Given the description of an element on the screen output the (x, y) to click on. 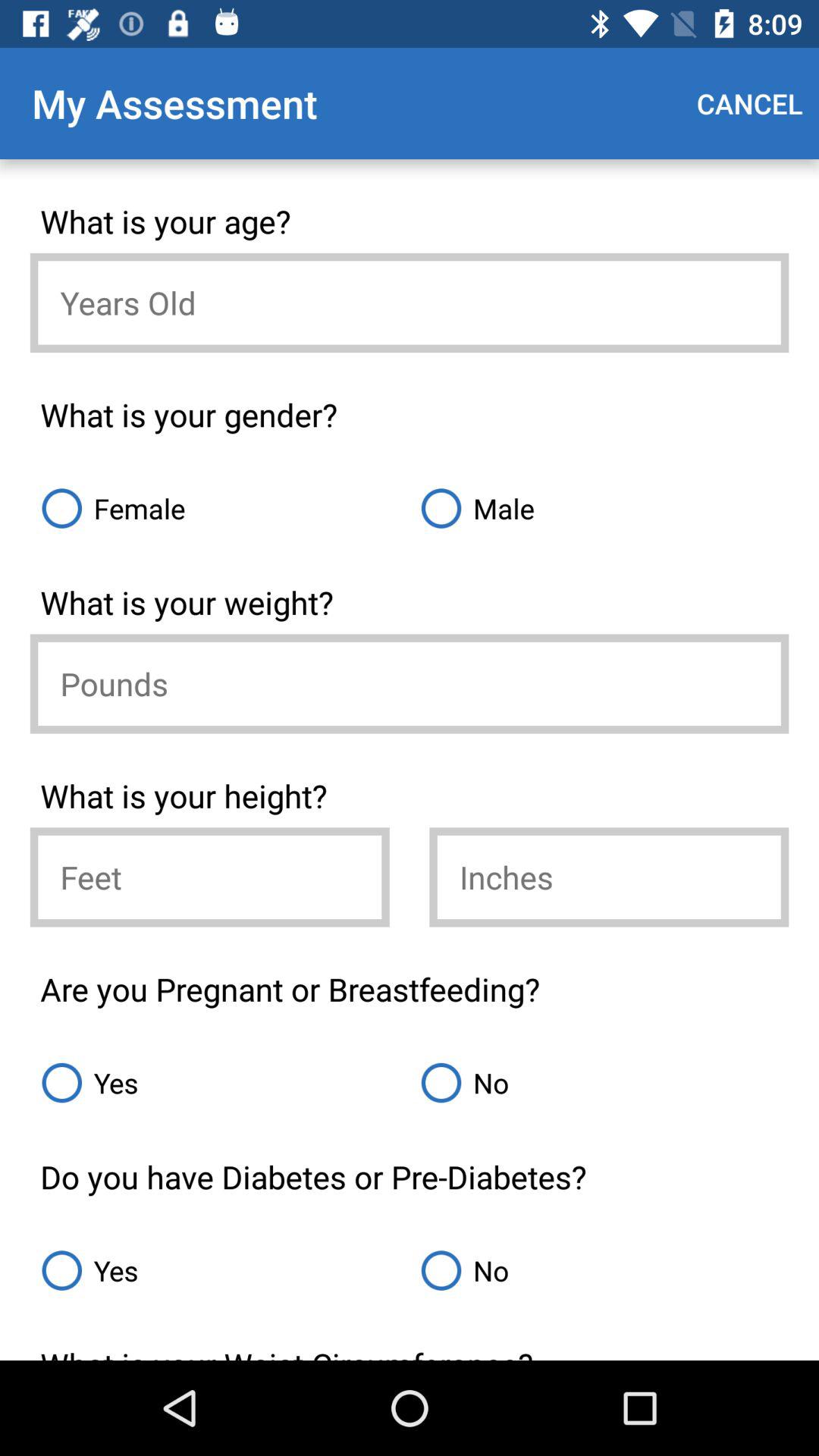
type inches (608, 877)
